Given the description of an element on the screen output the (x, y) to click on. 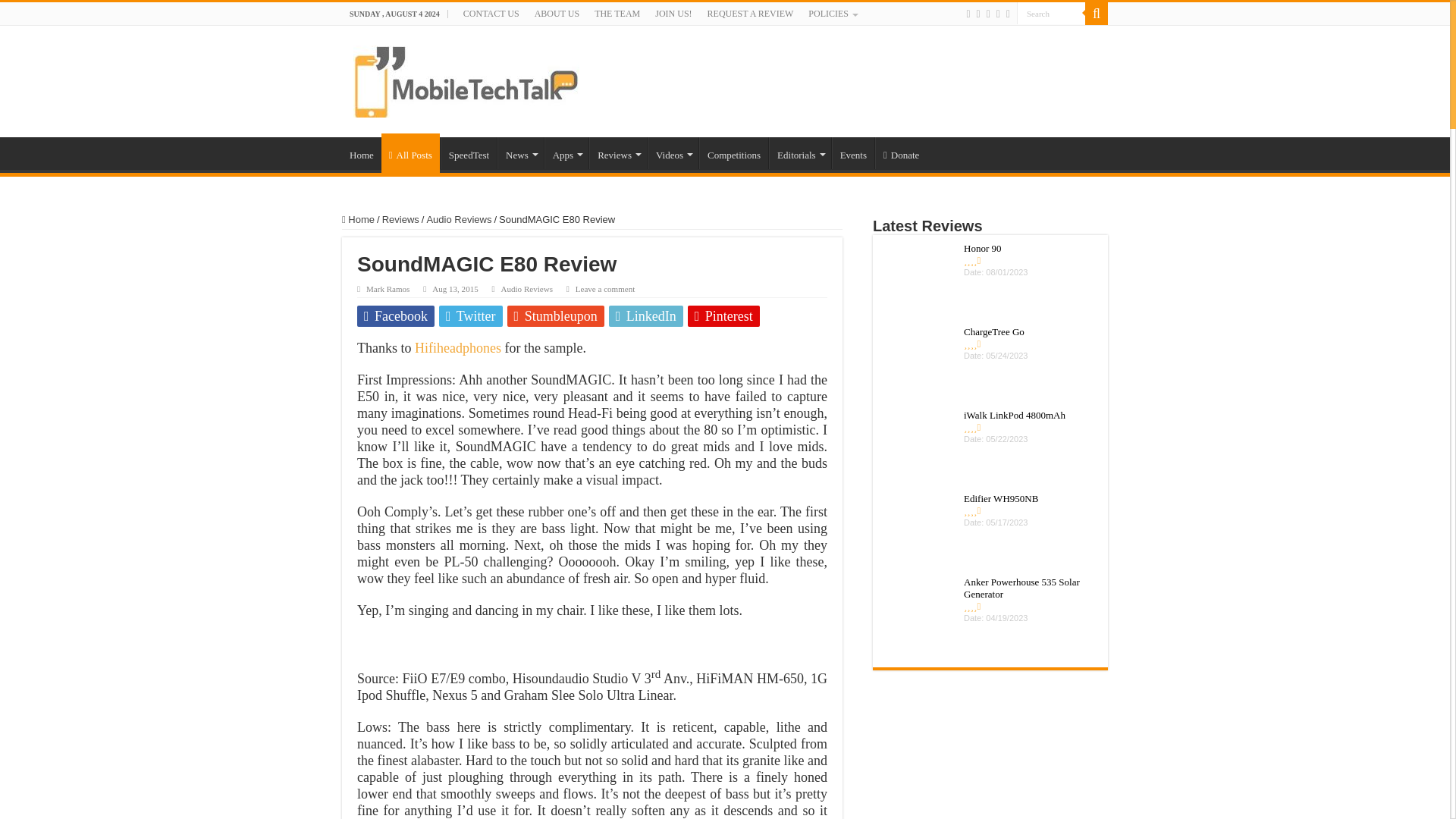
instagram (1007, 13)
Search (1050, 13)
CONTACT US (491, 13)
All Posts (410, 152)
News (520, 152)
Home (361, 152)
REQUEST A REVIEW (751, 13)
ABOUT US (556, 13)
THE TEAM (616, 13)
SpeedTest (468, 152)
Facebook (978, 13)
JOIN US! (672, 13)
Rss (967, 13)
Twitter (988, 13)
